Given the description of an element on the screen output the (x, y) to click on. 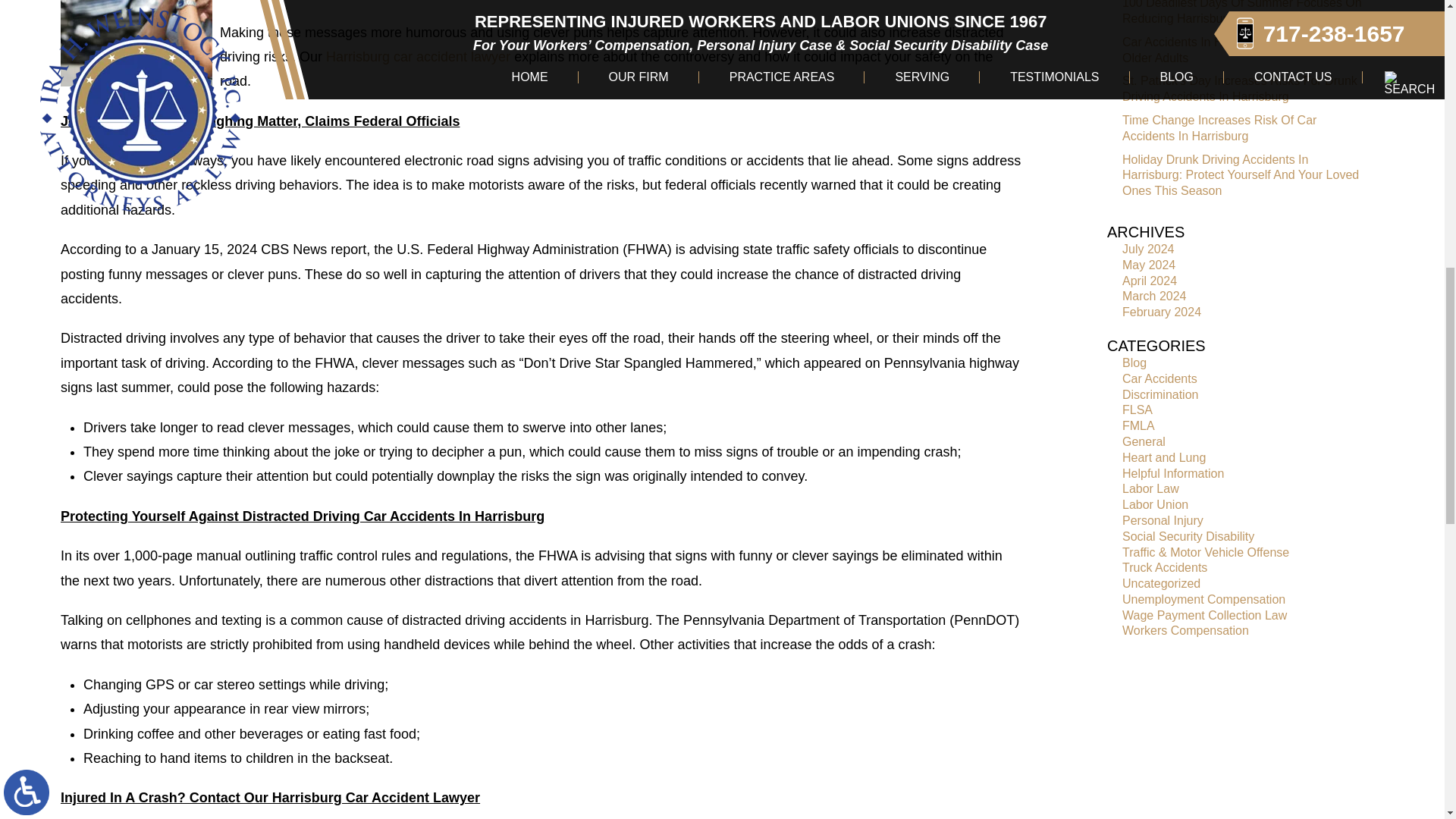
CarAccident3 (136, 43)
